Given the description of an element on the screen output the (x, y) to click on. 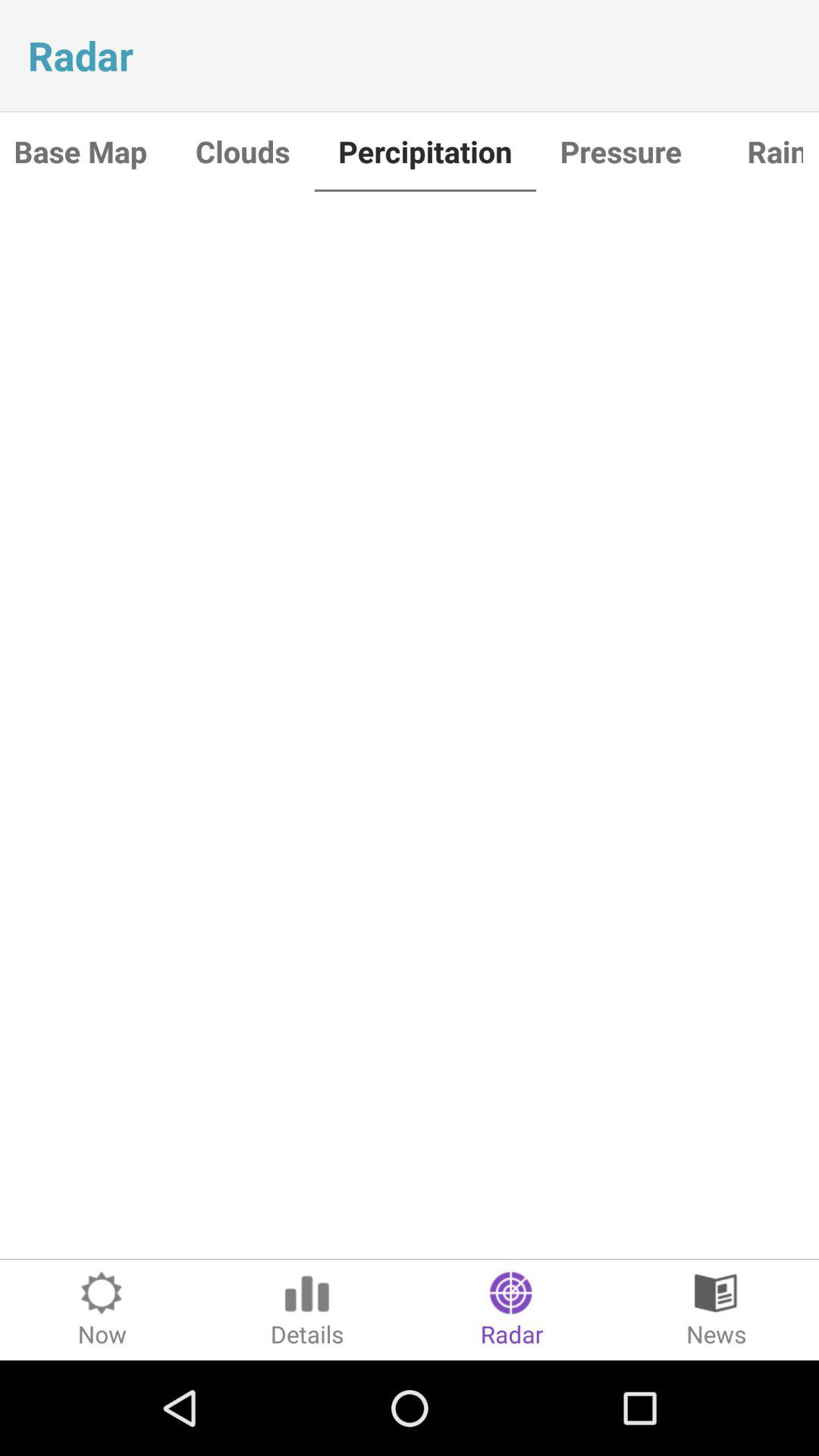
choose icon to the left of details (102, 1310)
